Given the description of an element on the screen output the (x, y) to click on. 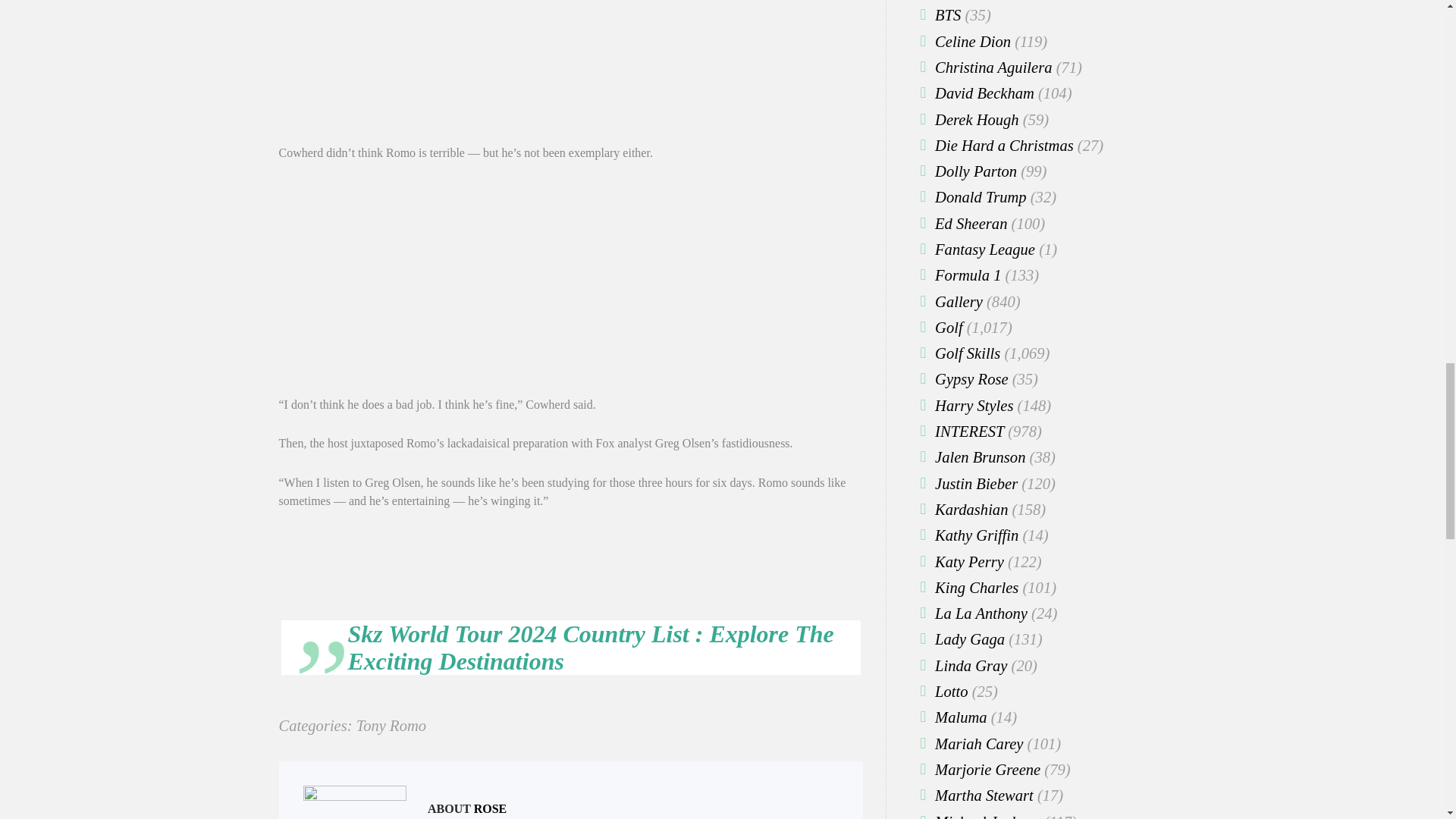
Advertisement (571, 568)
Advertisement (571, 72)
Advertisement (571, 289)
